Given the description of an element on the screen output the (x, y) to click on. 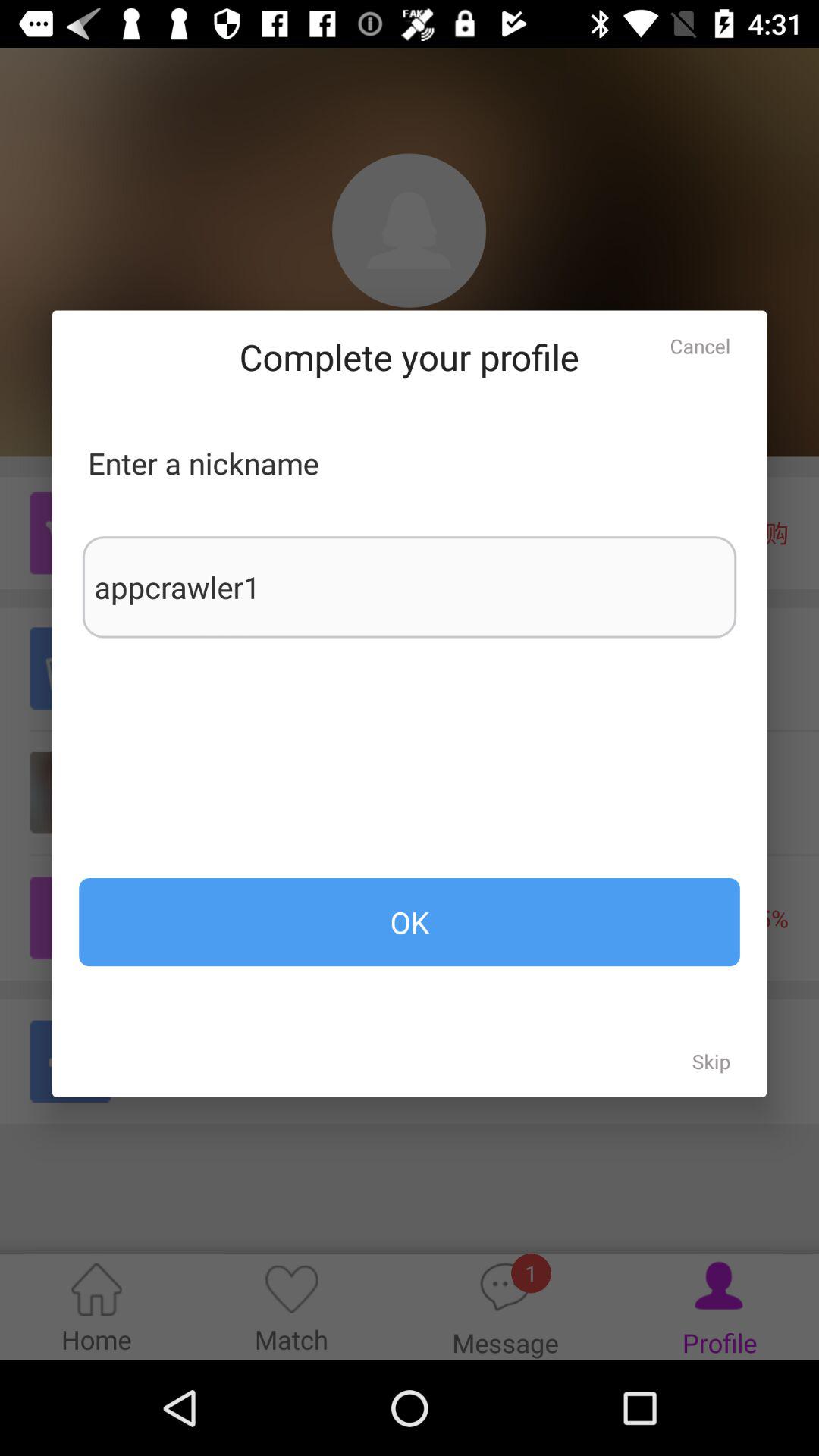
select the cancel icon (700, 345)
